Given the description of an element on the screen output the (x, y) to click on. 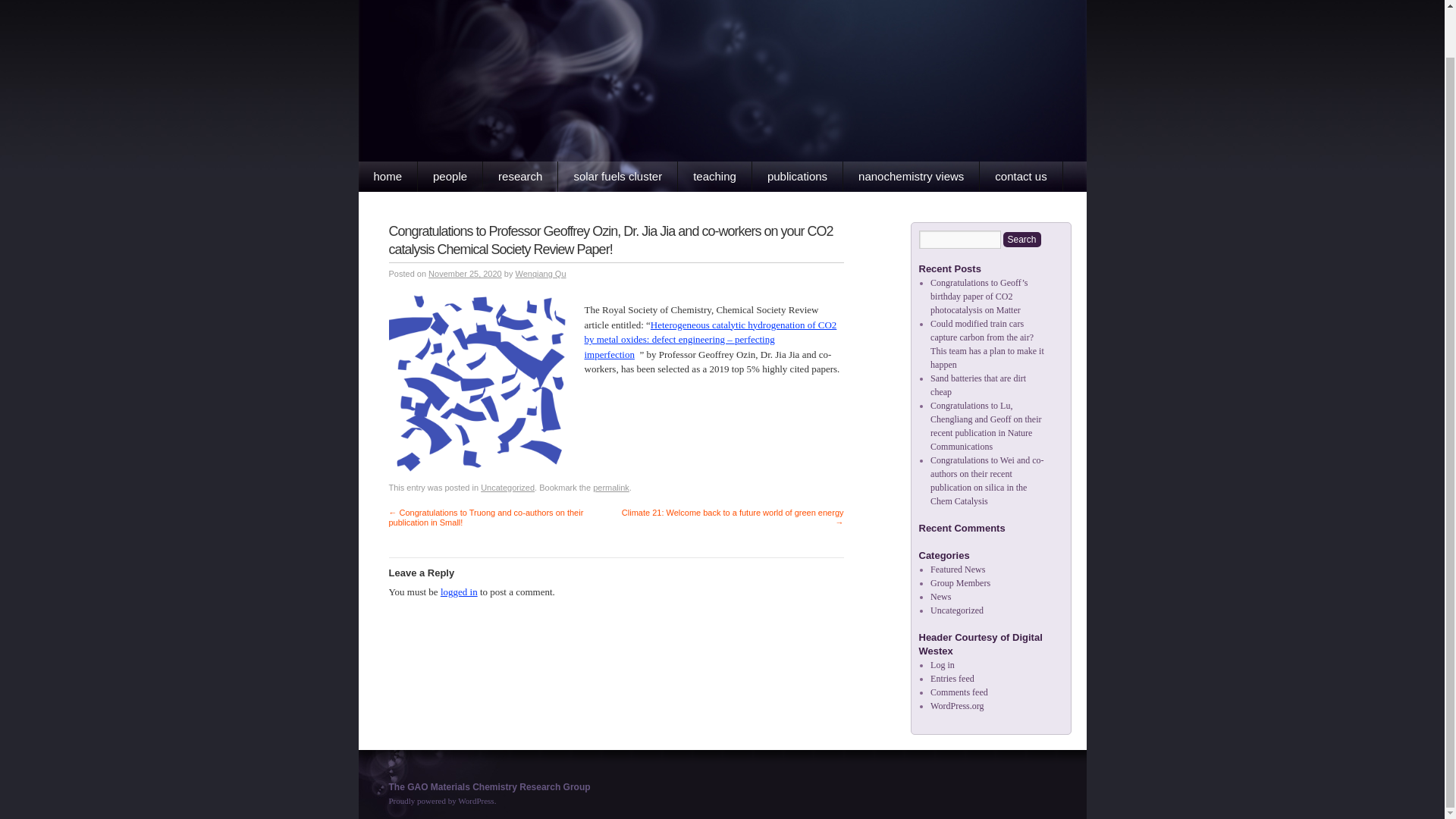
Search (1022, 239)
people (450, 176)
4:16 pm (465, 273)
permalink (610, 487)
Semantic Personal Publishing Platform (442, 800)
research (520, 176)
Wenqiang Qu (540, 273)
contact us (1020, 176)
home (387, 176)
View all posts by Wenqiang Qu (540, 273)
